Given the description of an element on the screen output the (x, y) to click on. 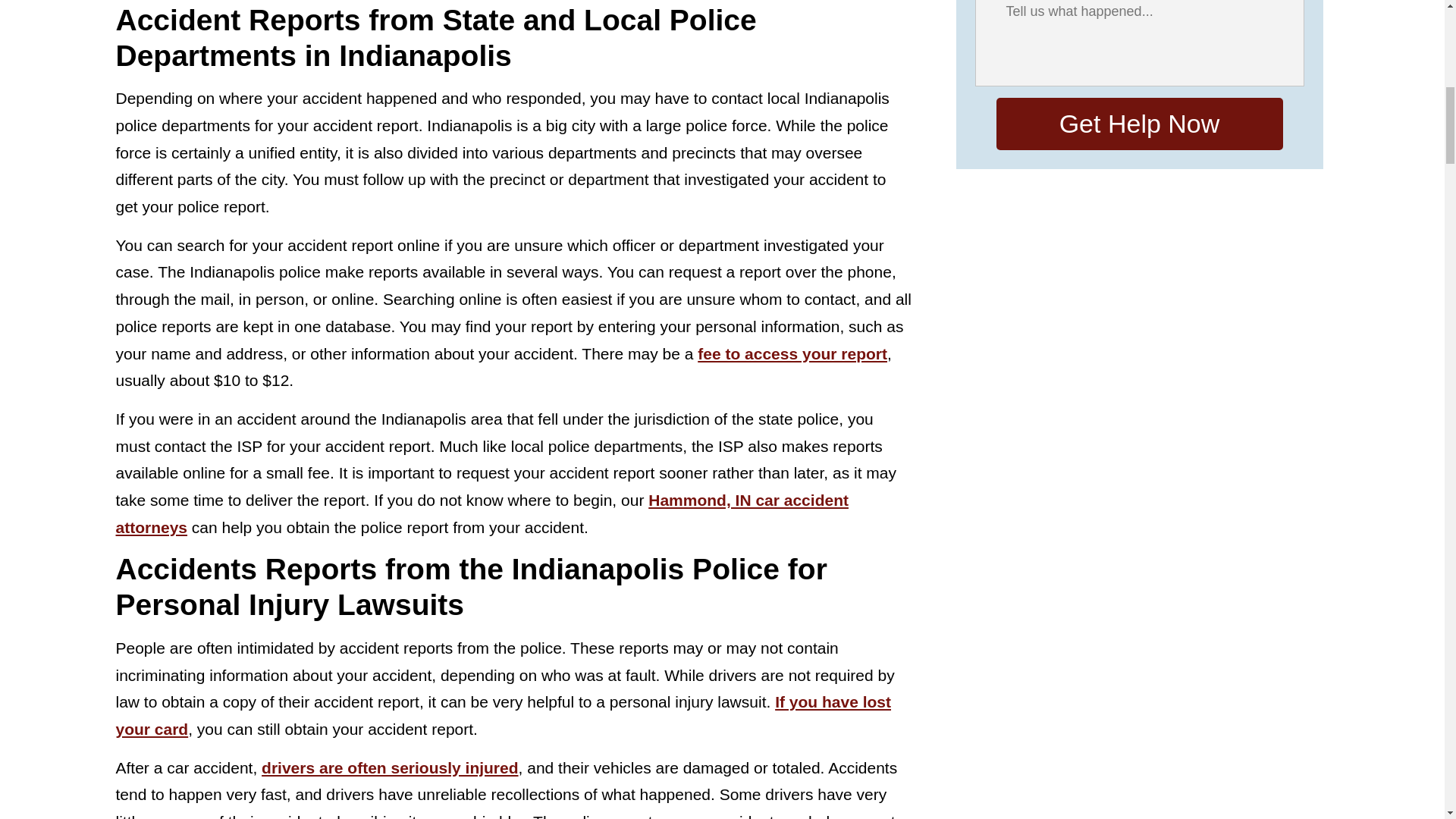
Get Help Now (1138, 123)
